Given the description of an element on the screen output the (x, y) to click on. 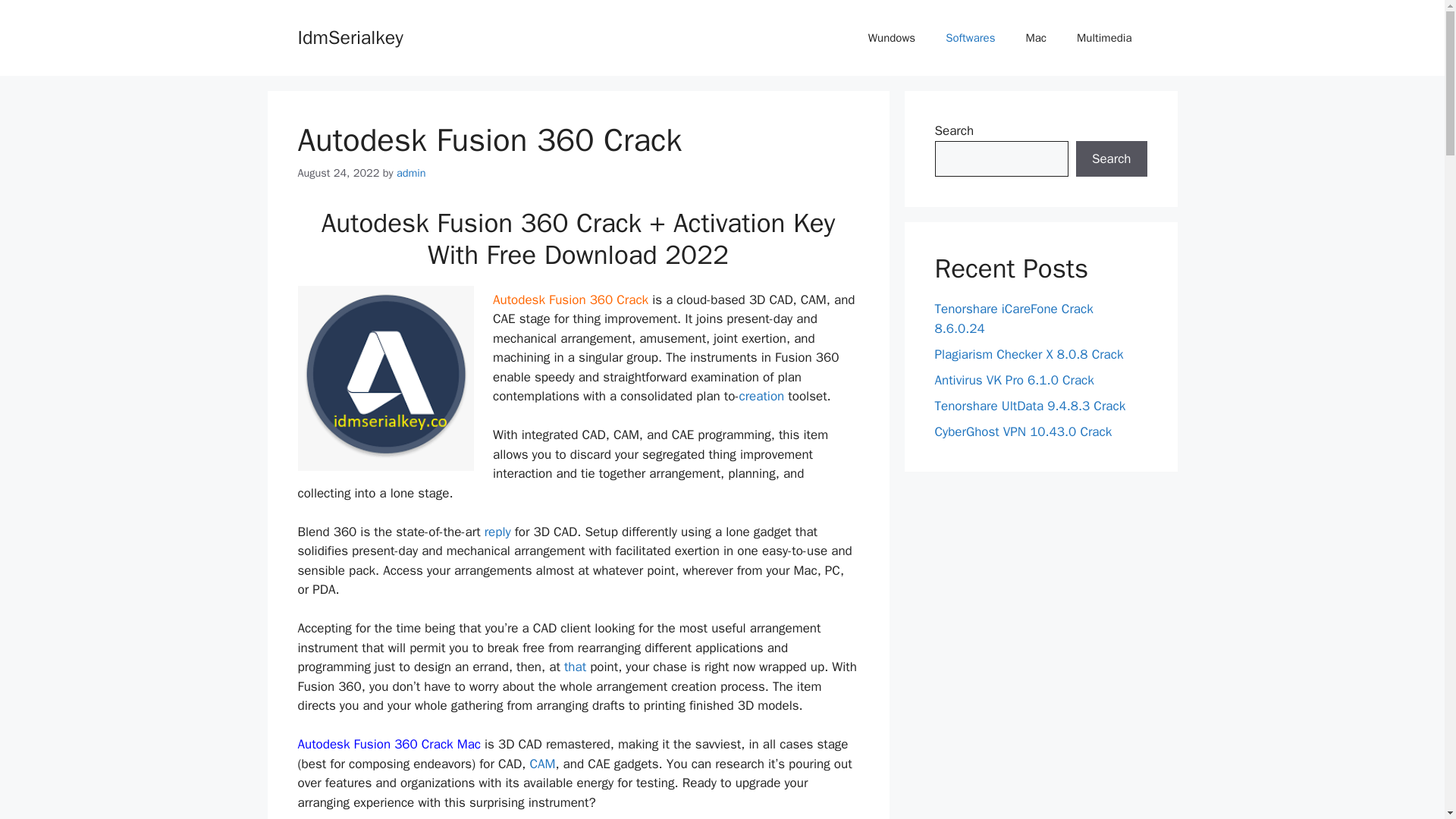
View all posts by admin (411, 172)
CAM (541, 763)
admin (411, 172)
that (575, 666)
Multimedia (1104, 37)
IdmSerialkey (350, 37)
creation (761, 396)
reply (497, 531)
Mac (1035, 37)
Softwares (970, 37)
Wundows (891, 37)
Autodesk Fusion 360 Crack (572, 299)
